Given the description of an element on the screen output the (x, y) to click on. 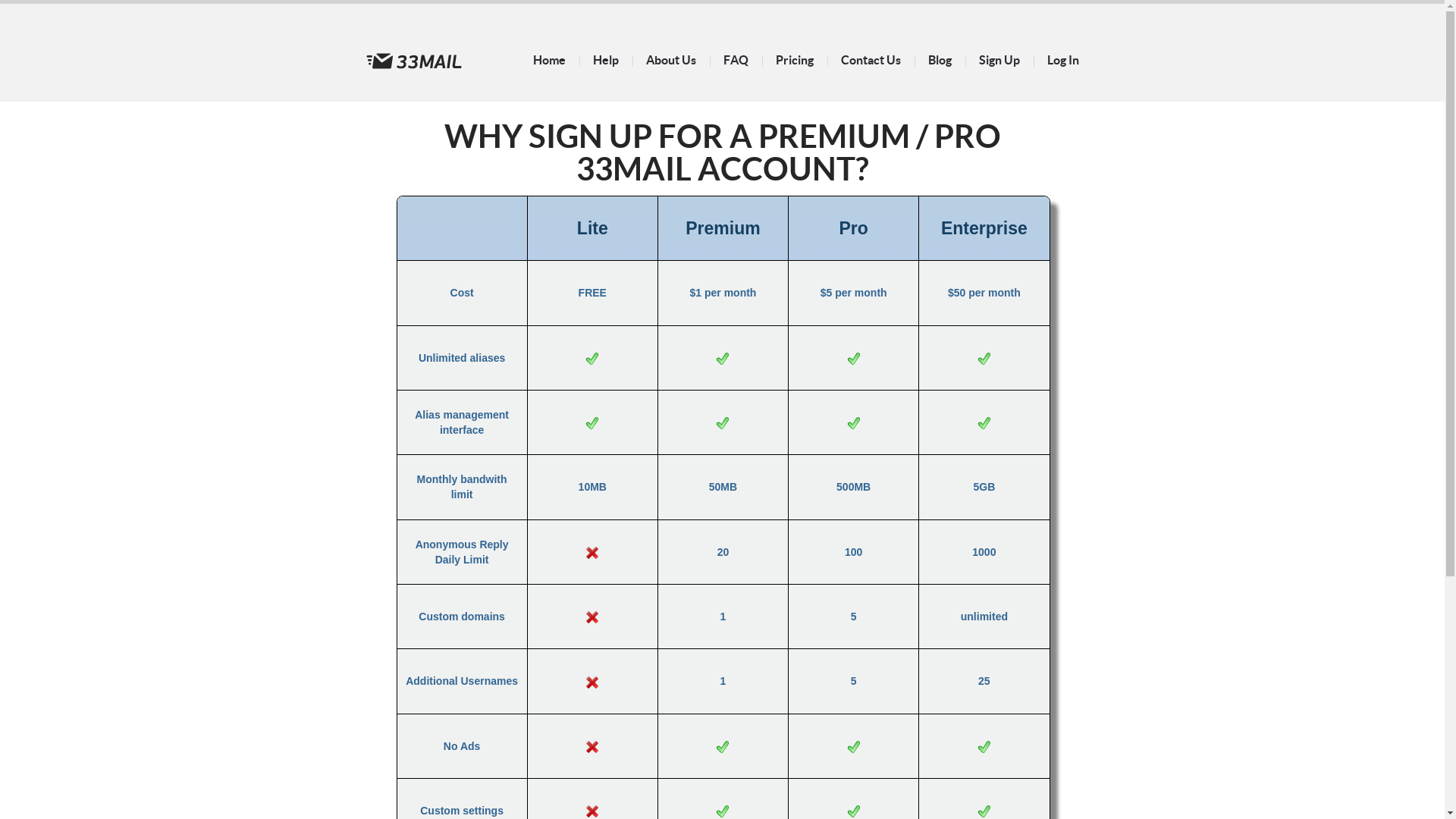
Contact Us Element type: text (870, 59)
Sign Up Element type: text (998, 59)
Help Element type: text (605, 59)
Blog Element type: text (939, 59)
Log In Element type: text (1062, 59)
About Us Element type: text (671, 59)
Pricing Element type: text (793, 59)
33mail Element type: text (413, 61)
Home Element type: text (548, 59)
FAQ Element type: text (735, 59)
